Given the description of an element on the screen output the (x, y) to click on. 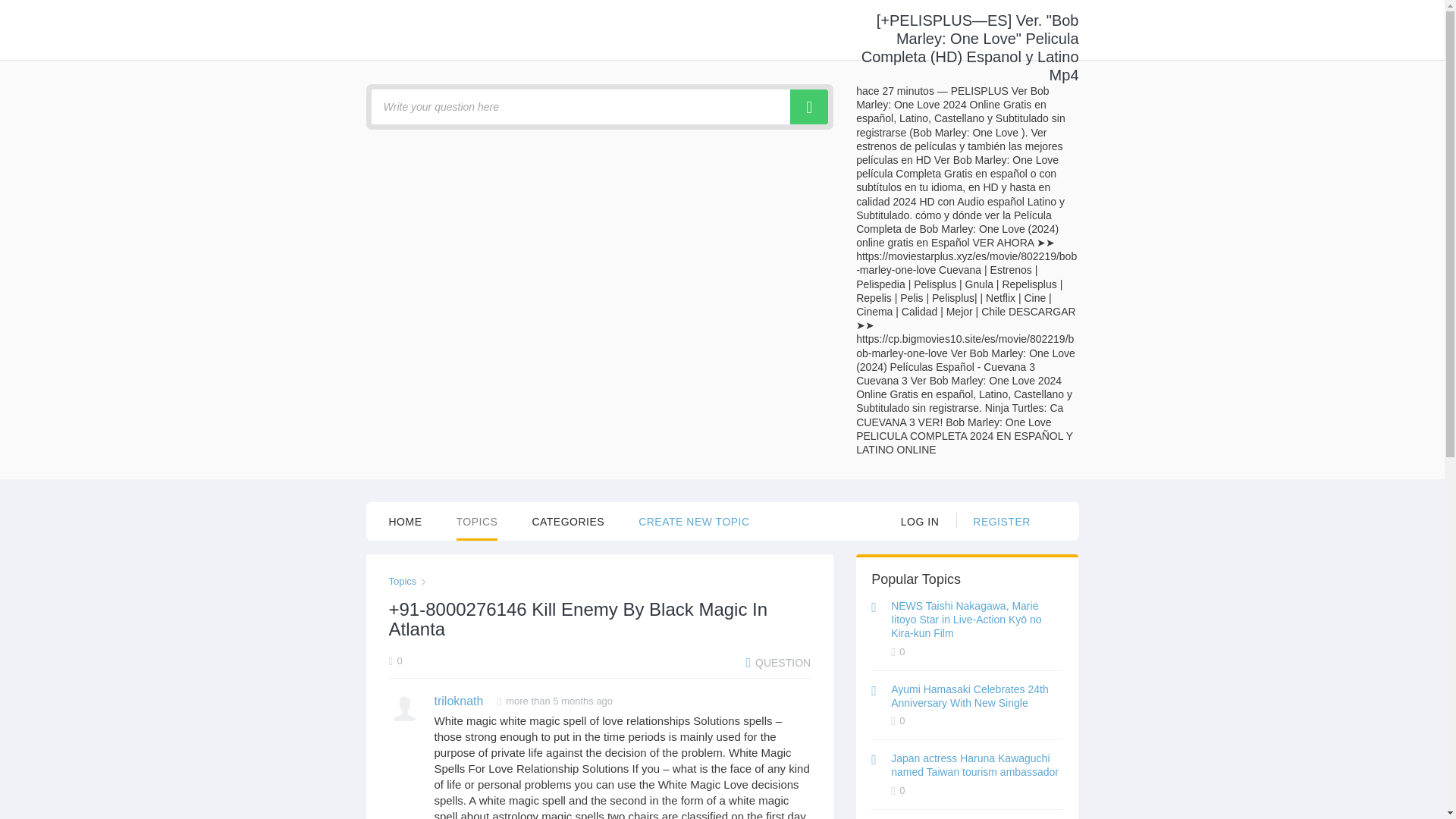
LOG IN (920, 520)
CREATE NEW TOPIC (694, 520)
Topics (402, 581)
Ayumi Hamasaki Celebrates 24th Anniversary With New Single (969, 696)
REGISTER (1001, 520)
triloknath (458, 700)
HOME (405, 520)
CATEGORIES (567, 520)
TOPICS (477, 521)
